Given the description of an element on the screen output the (x, y) to click on. 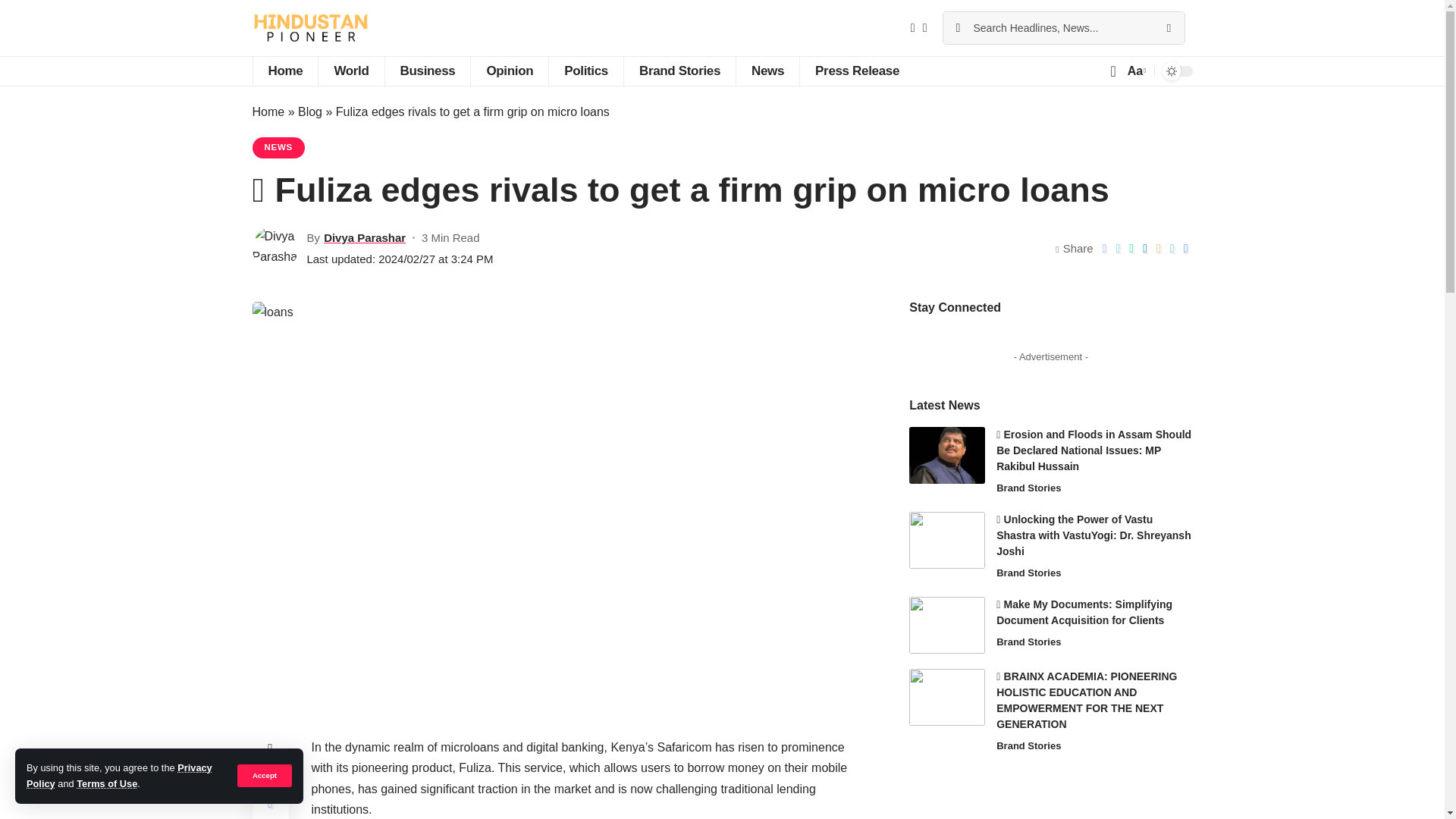
Opinion (509, 71)
Privacy Policy (119, 775)
World (350, 71)
News (767, 71)
Brand Stories (679, 71)
Accept (264, 775)
Search (1168, 28)
Home (284, 71)
Terms of Use (106, 783)
